Given the description of an element on the screen output the (x, y) to click on. 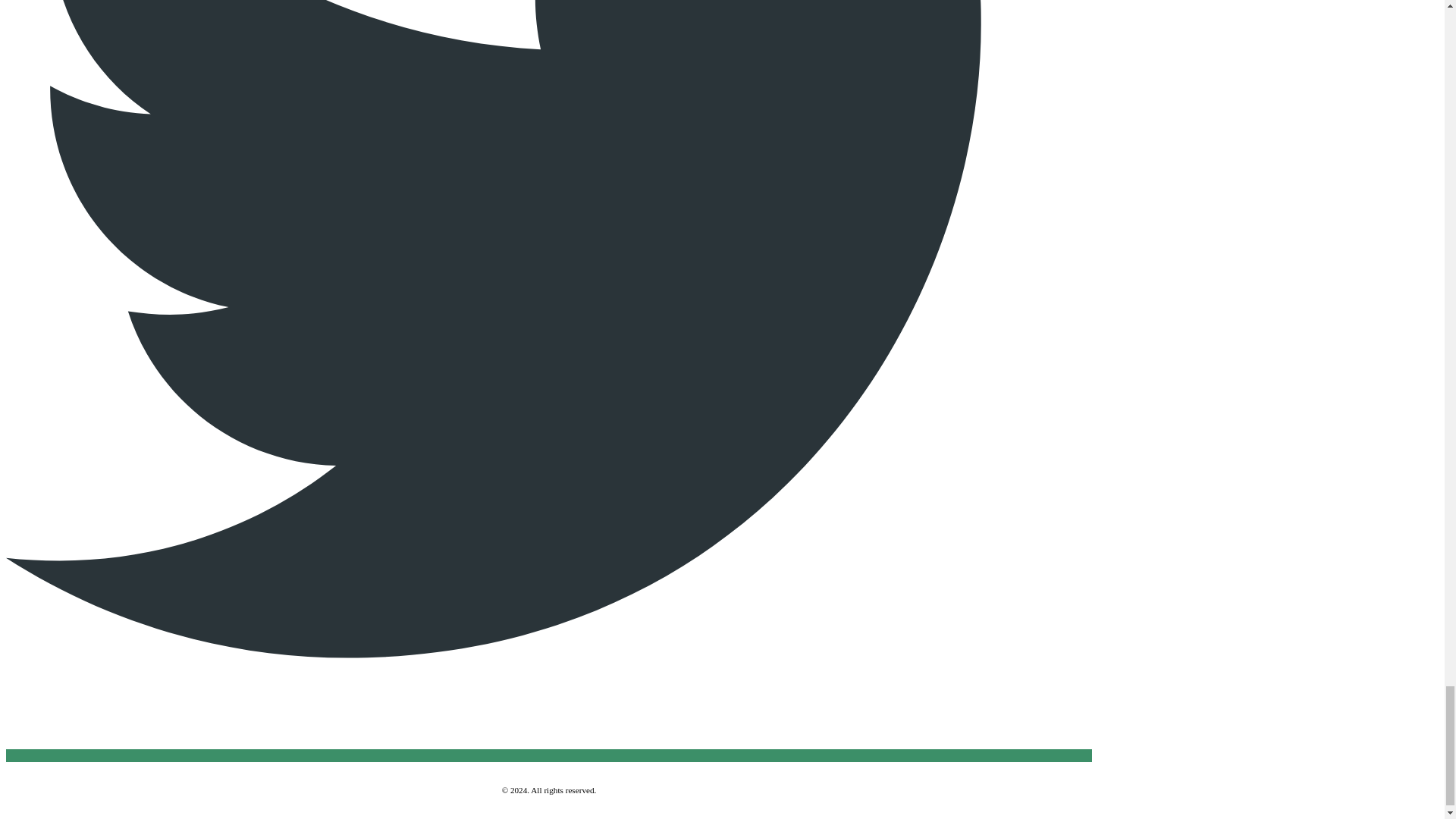
Follow us on Twitter (548, 755)
